Given the description of an element on the screen output the (x, y) to click on. 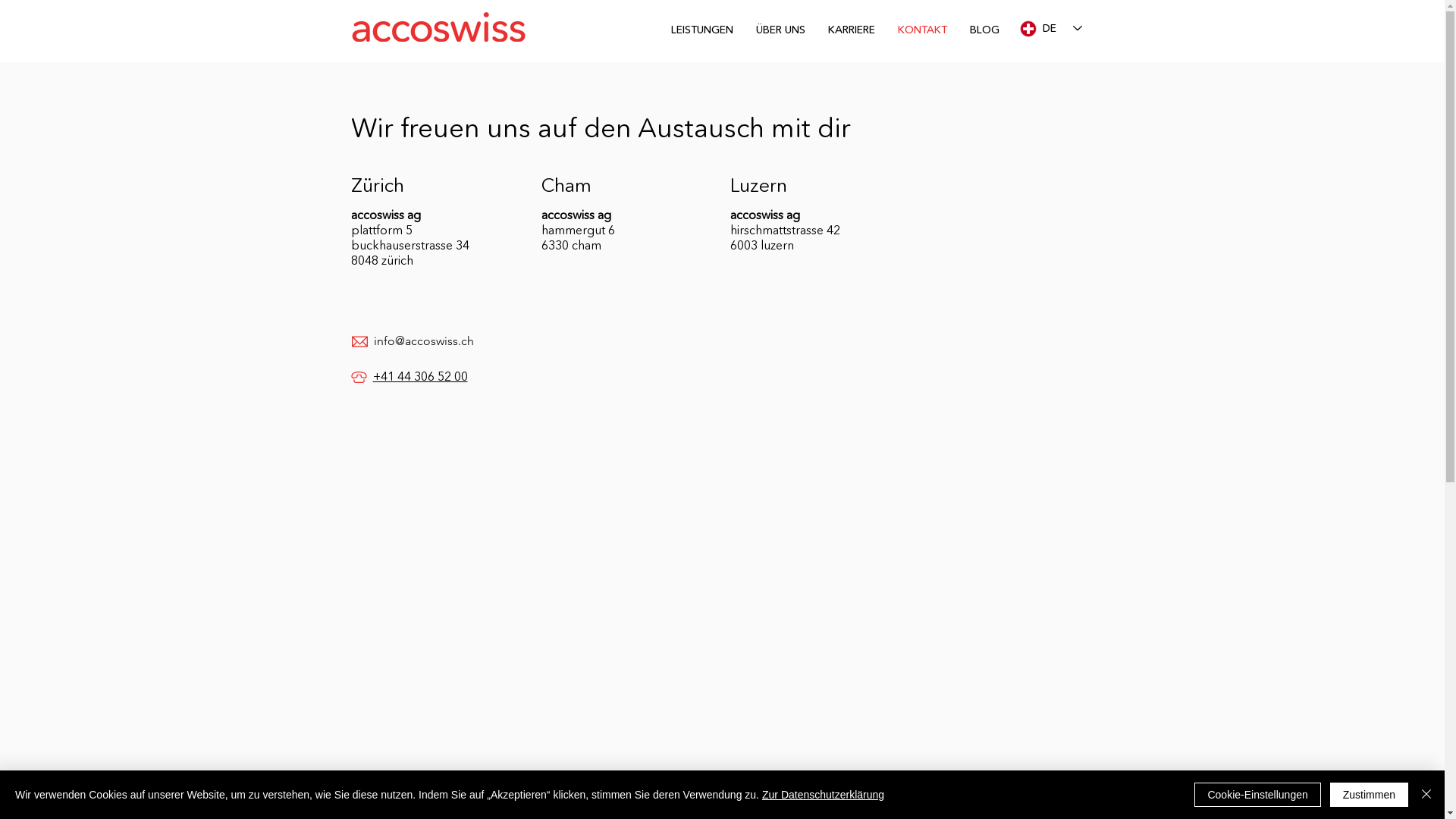
KONTAKT Element type: text (921, 28)
Cookie-Einstellungen Element type: text (1257, 794)
Zustimmen Element type: text (1369, 794)
BLOG Element type: text (984, 28)
+41 44 306 52 00 Element type: text (420, 375)
info@accoswiss.ch Element type: text (423, 340)
LEISTUNGEN Element type: text (701, 28)
Google Maps Element type: hover (721, 592)
KARRIERE Element type: text (850, 28)
